Given the description of an element on the screen output the (x, y) to click on. 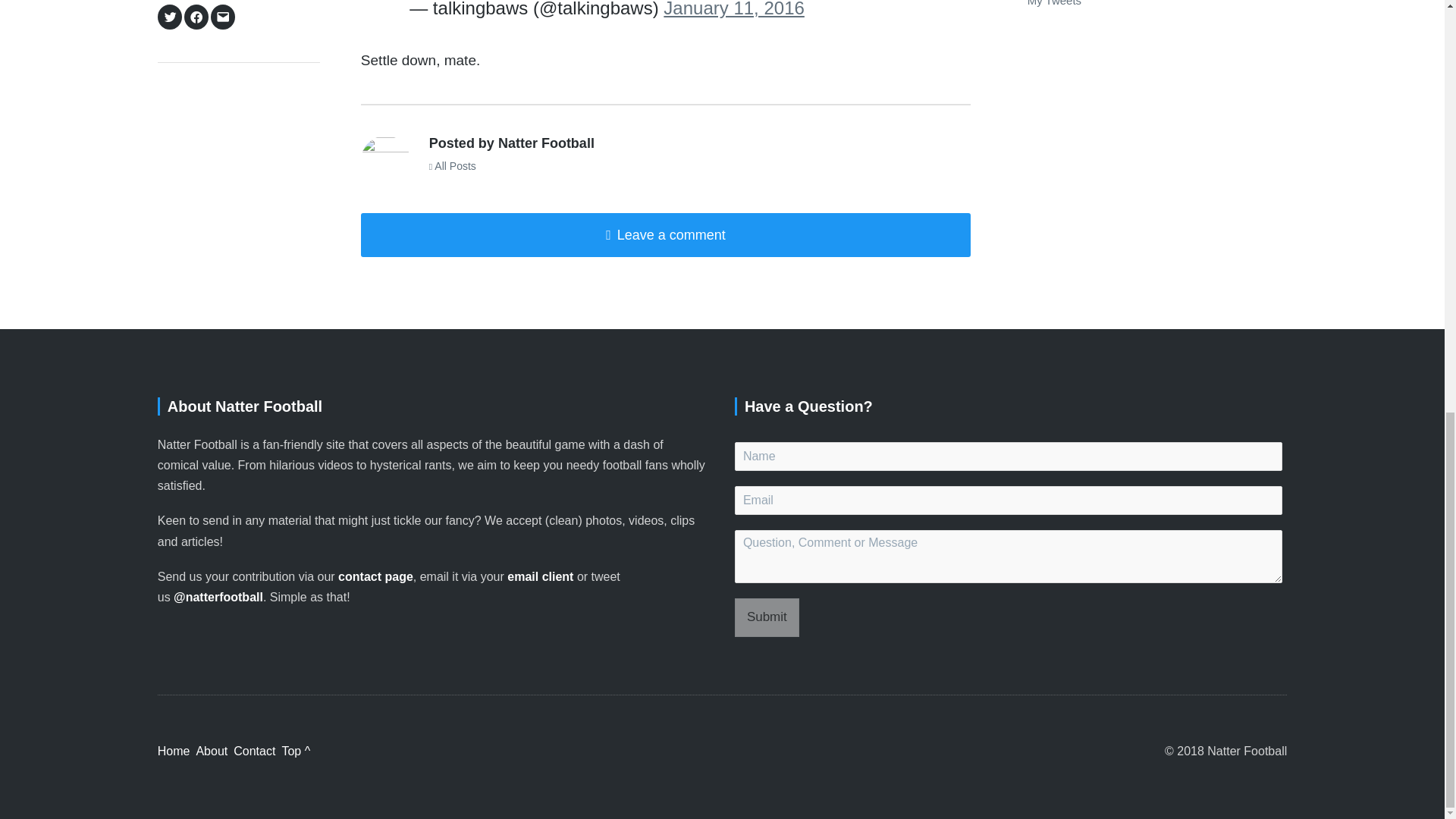
Click to share on Twitter (169, 16)
Click to email a link to a friend (222, 16)
All Posts (452, 165)
Posts by Natter Football (385, 160)
Leave a comment (666, 234)
January 11, 2016 (733, 9)
Click to share on Facebook (196, 16)
